Given the description of an element on the screen output the (x, y) to click on. 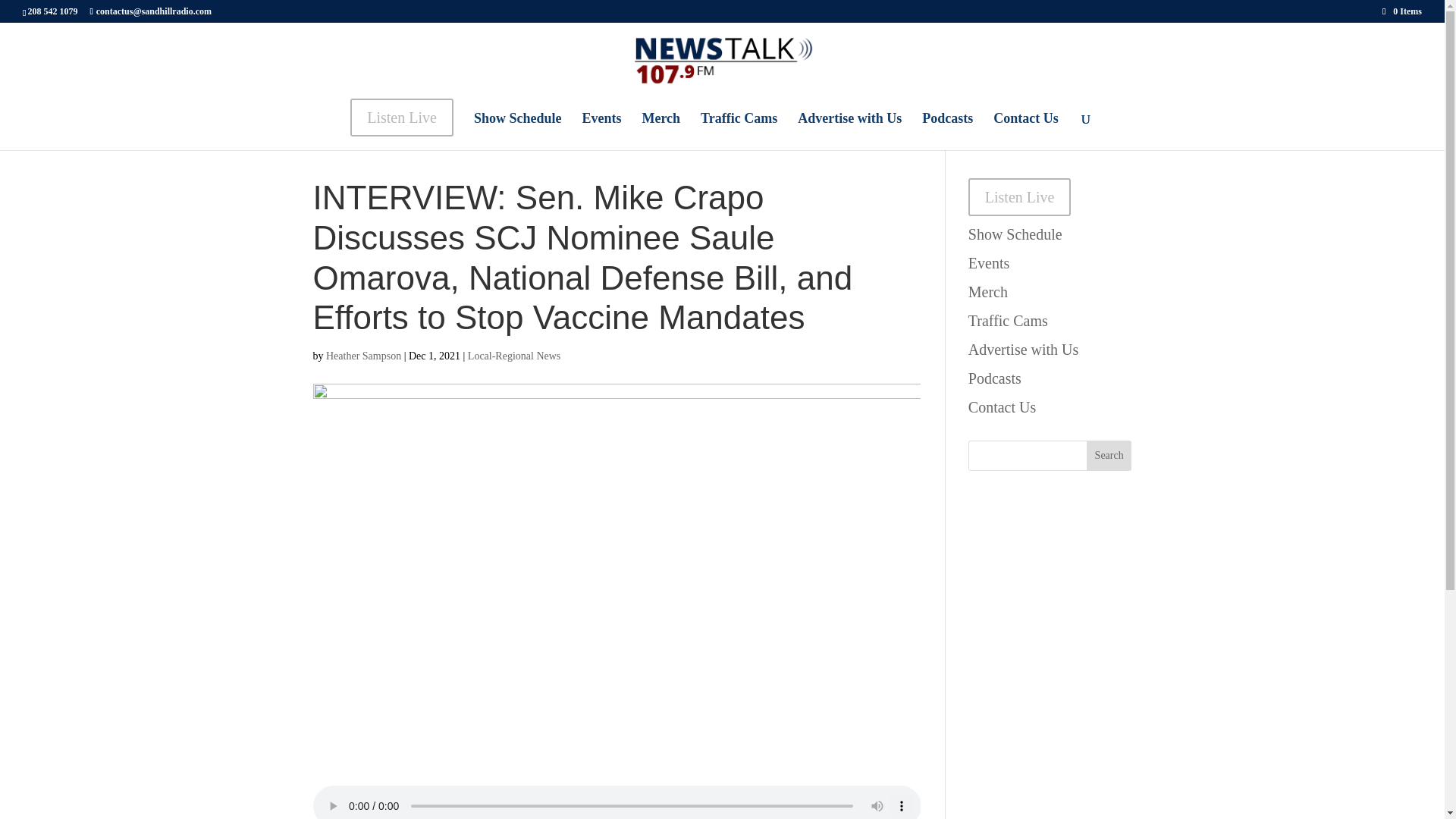
Listen Live (401, 123)
Show Schedule (1015, 234)
Advertise with Us (1023, 349)
Advertise with Us (849, 125)
Podcasts (995, 378)
Events (600, 125)
Merch (987, 291)
Listen Live (401, 117)
Search (1109, 455)
Merch (660, 125)
Listen Live (1019, 197)
Traffic Cams (738, 125)
Events (988, 262)
Listen Live (1019, 197)
Contact Us (1025, 125)
